Given the description of an element on the screen output the (x, y) to click on. 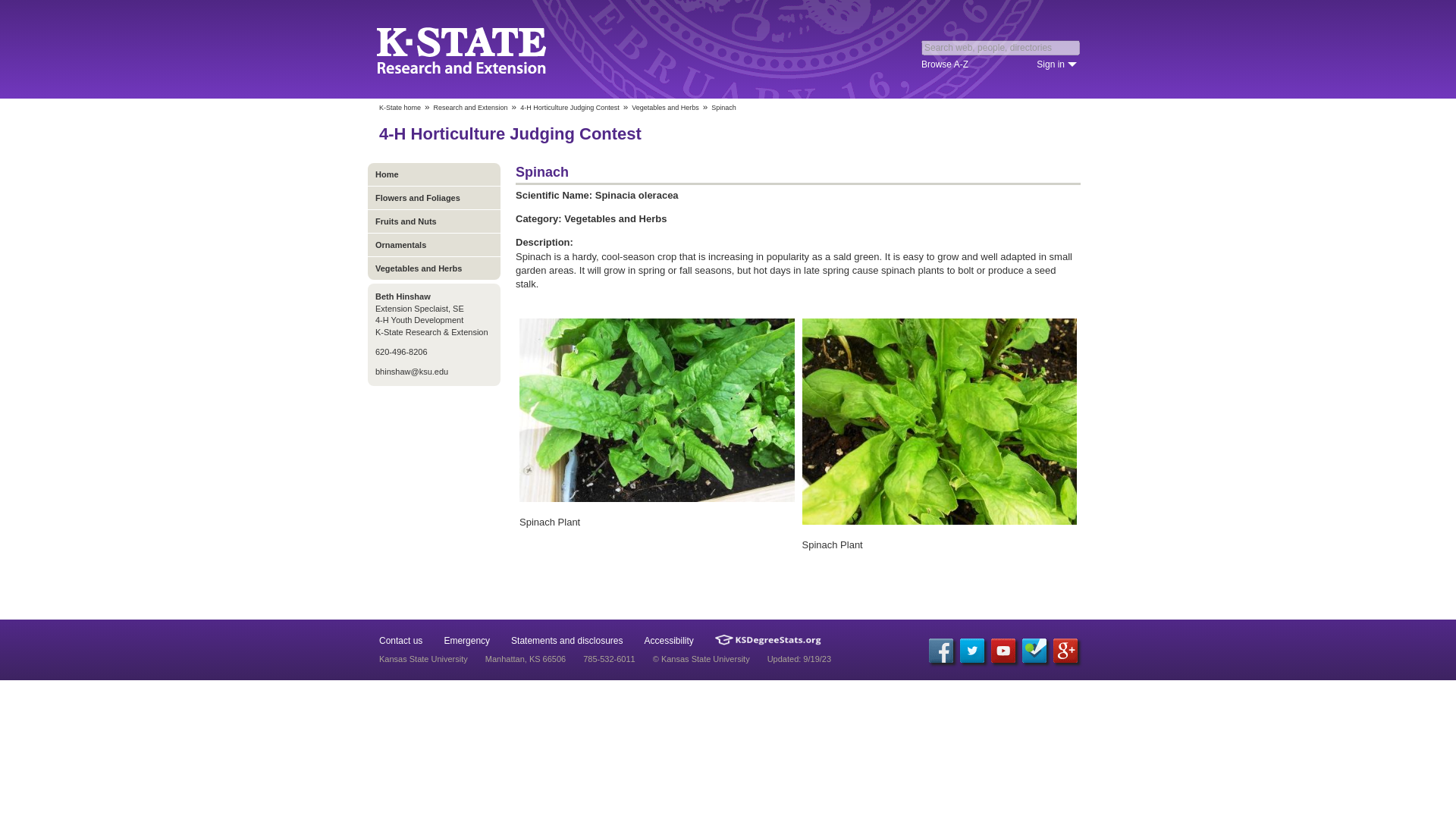
Browse A-Z (944, 63)
Contact us (400, 640)
Emergency (466, 640)
Home (434, 173)
4-H Horticulture Judging Contest (510, 133)
Flowers and Foliages (434, 197)
K-State Research and Extension (502, 49)
K-State home (399, 107)
Research and Extension (470, 107)
Fruits and Nuts (434, 220)
Vegetables and Herbs (434, 268)
4-H Horticulture Judging Contest (569, 107)
Accessibility (669, 640)
Statements and disclosures (567, 640)
Search web, people, directories (1000, 47)
